Given the description of an element on the screen output the (x, y) to click on. 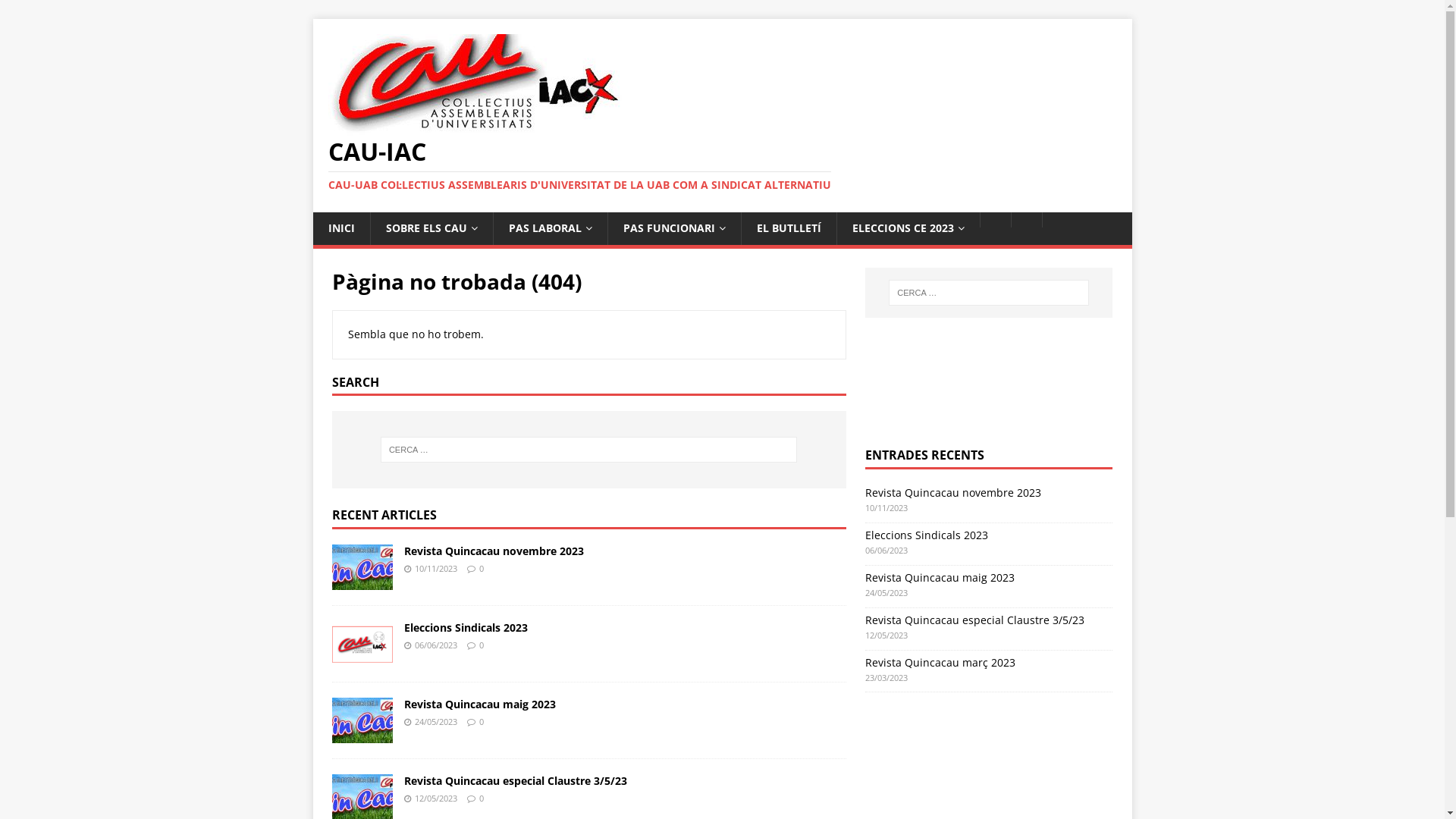
Revista Quincacau novembre 2023 Element type: text (493, 550)
SOBRE ELS CAU Element type: text (431, 228)
0 Element type: text (481, 644)
0 Element type: text (481, 568)
Revista Quincacau maig 2023 Element type: text (479, 703)
Revista Quincacau novembre 2023 Element type: text (953, 492)
Cerca Element type: text (56, 11)
0 Element type: text (481, 721)
Revista Quincacau maig 2023 Element type: text (939, 577)
Revista Quincacau maig 2023 Element type: hover (362, 734)
Revista Quincacau novembre 2023 Element type: hover (362, 581)
Eleccions Sindicals 2023 Element type: text (465, 627)
0 Element type: text (481, 797)
INICI Element type: text (340, 228)
Revista Quincacau especial Claustre 3/5/23 Element type: text (974, 619)
ELECCIONS CE 2023 Element type: text (907, 228)
Revista Quincacau especial Claustre 3/5/23 Element type: hover (362, 810)
PAS FUNCIONARI Element type: text (673, 228)
Revista Quincacau especial Claustre 3/5/23 Element type: text (514, 780)
Eleccions Sindicals 2023 Element type: text (926, 534)
Eleccions Sindicals 2023 Element type: hover (362, 657)
PAS LABORAL Element type: text (549, 228)
